Given the description of an element on the screen output the (x, y) to click on. 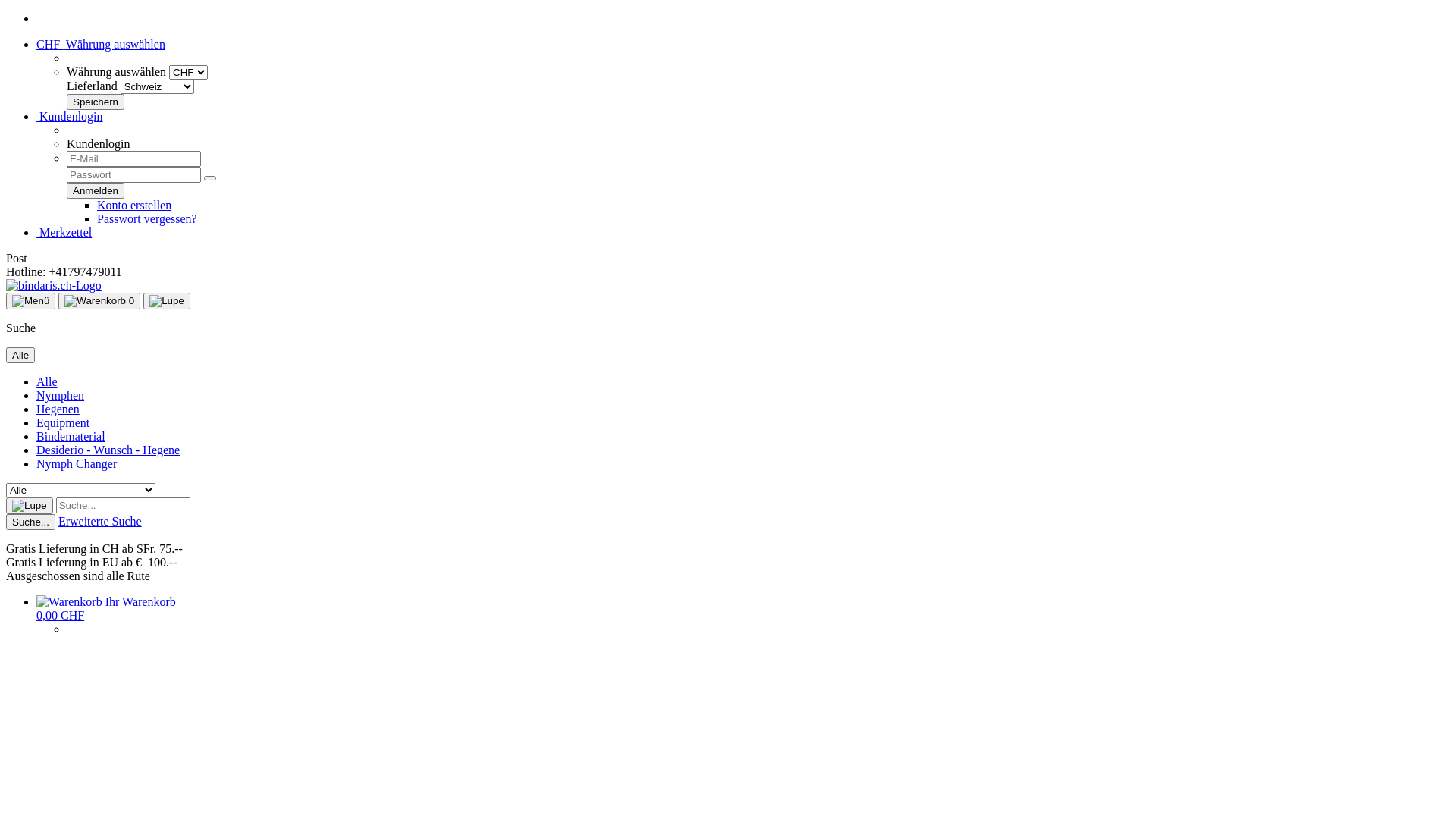
Erweiterte Suche Element type: text (99, 520)
Speichern Element type: hover (95, 101)
Speichern Element type: text (95, 101)
Alle Element type: text (46, 381)
 Kundenlogin Element type: text (69, 115)
Desiderio - Wunsch - Hegene Element type: text (107, 449)
Ihr Warenkorb
0,00 CHF Element type: text (105, 608)
Nymphen Element type: text (60, 395)
Suche... Element type: text (30, 522)
Konto erstellen Element type: text (134, 204)
Nymph Changer Element type: text (76, 463)
Alle Element type: text (20, 355)
Hegenen Element type: text (57, 408)
Equipment Element type: text (62, 422)
 Merkzettel Element type: text (63, 231)
Bindematerial Element type: text (70, 435)
Passwort vergessen? Element type: text (147, 218)
Anmelden Element type: text (95, 190)
bindaris.ch Element type: hover (53, 285)
0 Element type: text (99, 300)
